Given the description of an element on the screen output the (x, y) to click on. 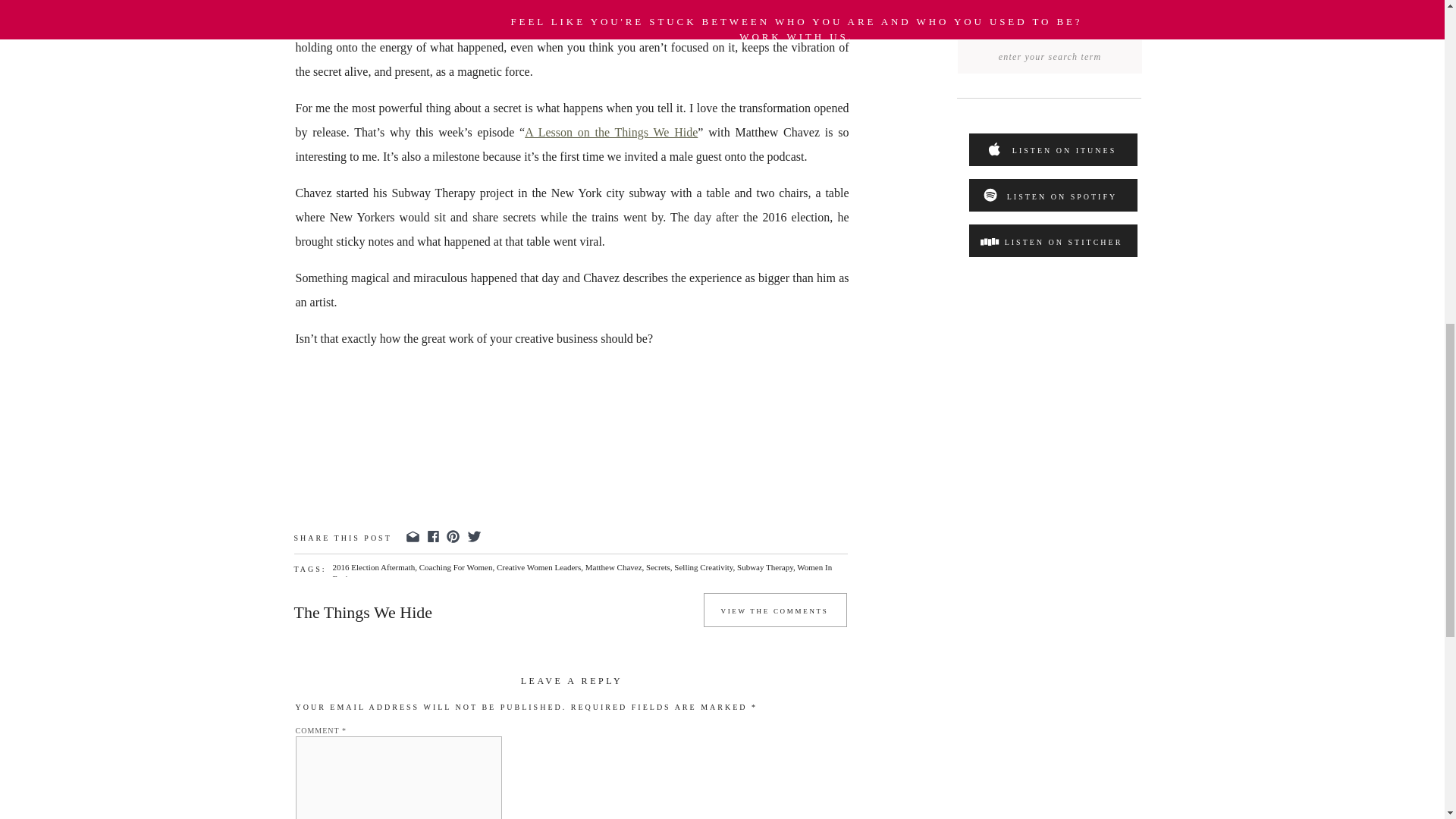
LISTEN ON STITCHER (1062, 244)
Women In Business (581, 572)
2016 Election Aftermath (372, 566)
Subway Therapy (764, 566)
A Lesson on the Things We Hide (610, 132)
VIEW THE COMMENTS (774, 614)
Selling Creativity (703, 566)
LISTEN ON SPOTIFY (1061, 198)
Creative Women Leaders (538, 566)
LISTEN ON ITUNES (1064, 152)
Coaching For Women (456, 566)
Matthew Chavez (613, 566)
Secrets (657, 566)
